Given the description of an element on the screen output the (x, y) to click on. 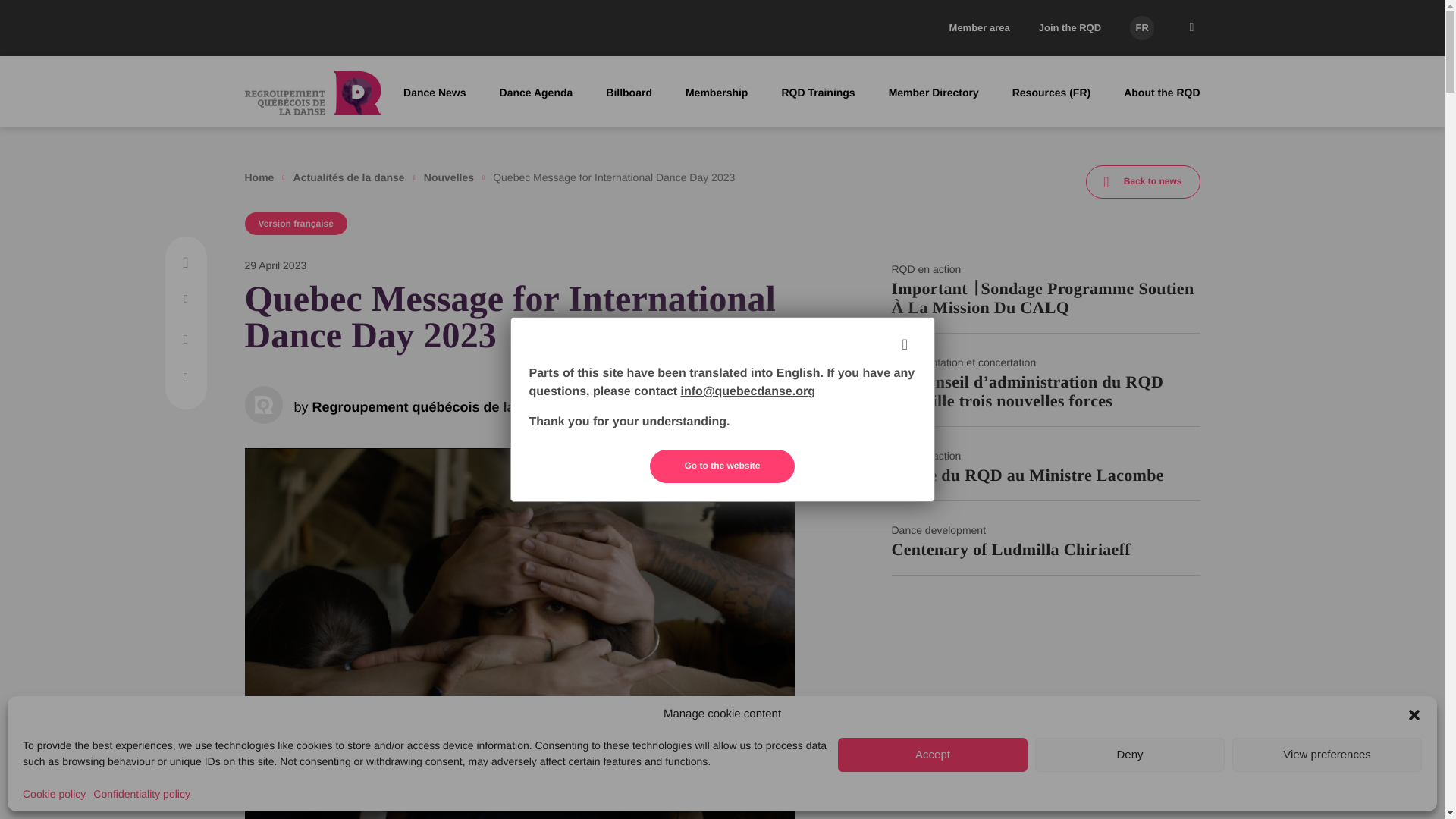
Accept (932, 754)
Deny (1129, 754)
Cookie policy (54, 794)
Dance News (434, 92)
Membership (716, 92)
Go to the website (721, 466)
Home (258, 177)
Join the RQD (1069, 27)
Member area (979, 27)
FR (1141, 27)
Dance Agenda (536, 92)
Confidentiality policy (141, 794)
View preferences (1326, 754)
Send (572, 43)
Billboard (628, 92)
